Given the description of an element on the screen output the (x, y) to click on. 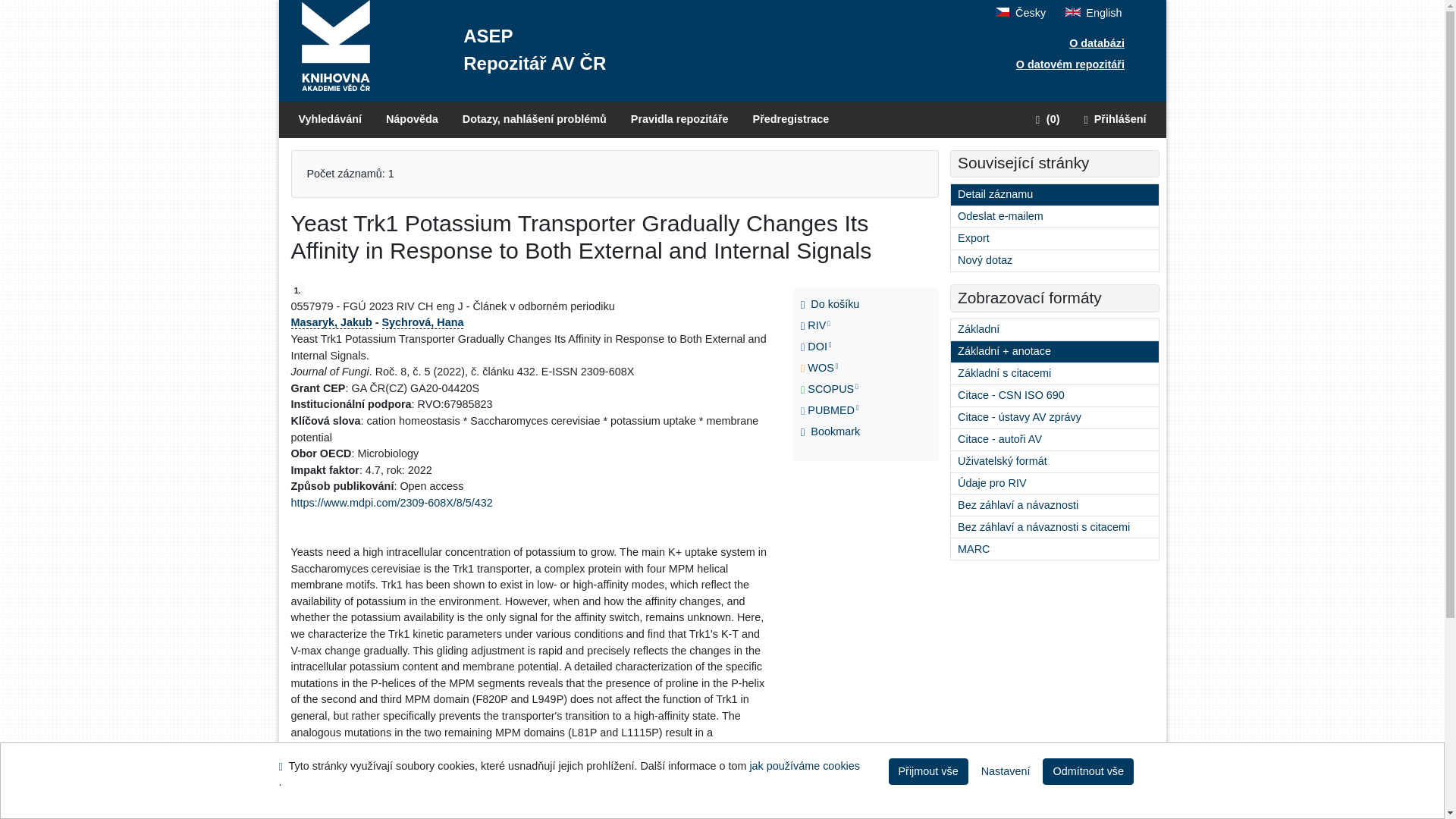
Masaryk, Jakub (331, 322)
Export (1054, 238)
 WOS (832, 368)
English version (1093, 12)
 SCOPUS (832, 389)
  Bookmark (832, 432)
Odeslat e-mailem (1054, 216)
English (1093, 12)
 PUBMED (832, 410)
Citace - CSN ISO 690 (1054, 395)
 DOI (832, 346)
 RIV (832, 325)
